Given the description of an element on the screen output the (x, y) to click on. 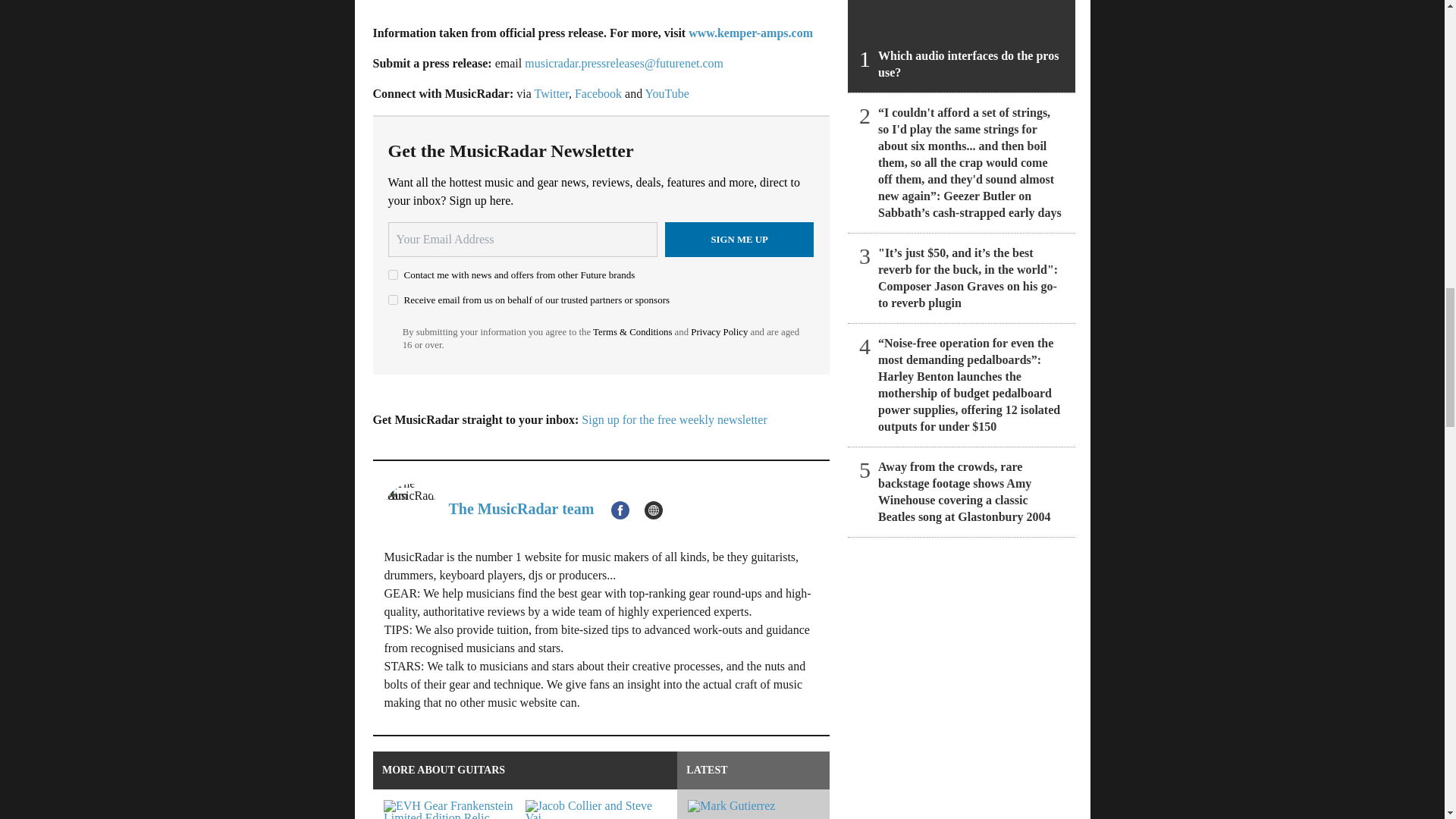
on (392, 299)
Sign me up (739, 239)
on (392, 275)
Which audio interfaces do the pros use? (961, 46)
